Given the description of an element on the screen output the (x, y) to click on. 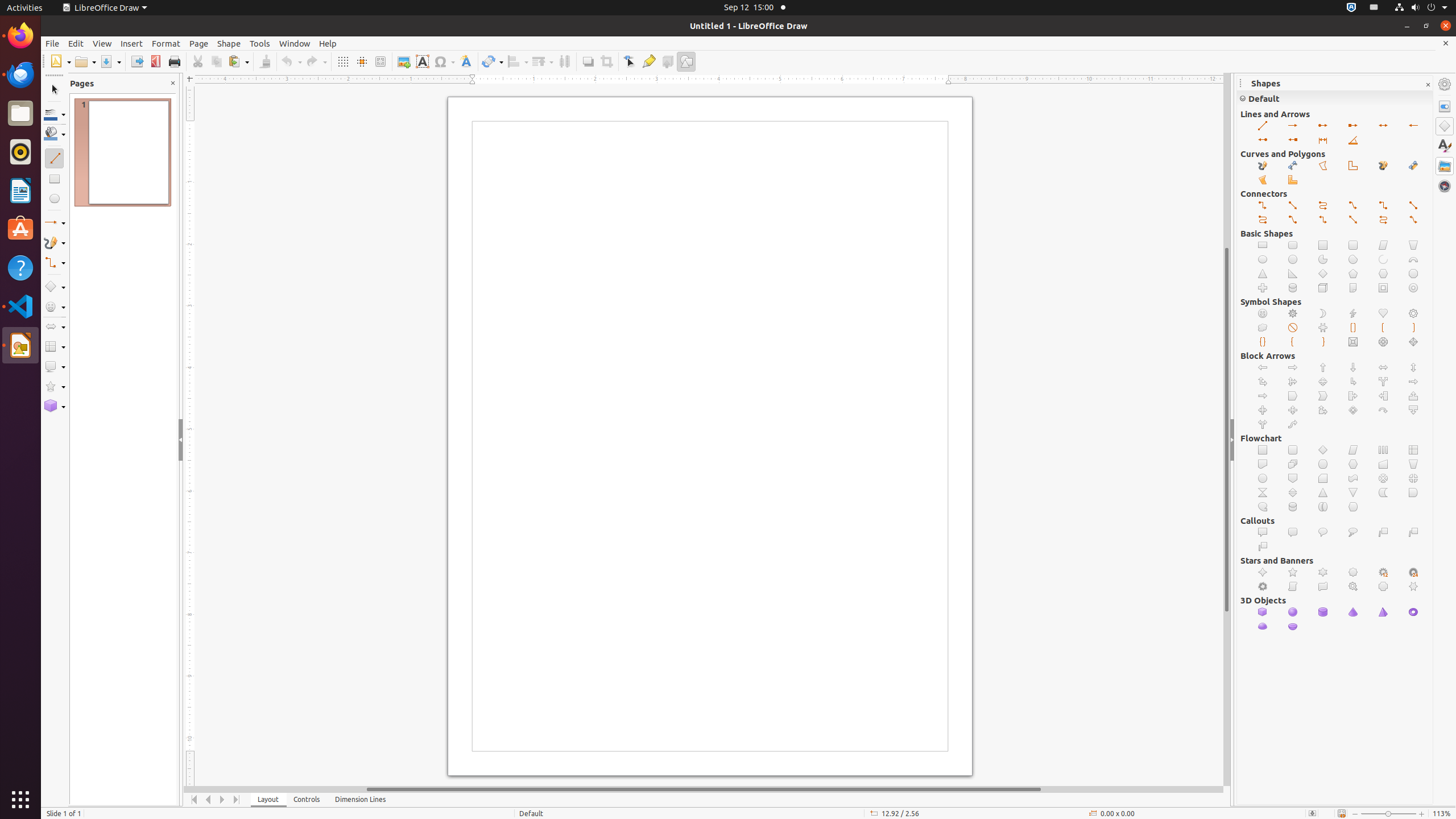
Ubuntu Software Element type: push-button (20, 229)
Circle Element type: list-item (1292, 259)
Signet Element type: list-item (1353, 586)
Freeform Line Element type: list-item (1262, 165)
Frame Element type: list-item (1383, 287)
